Given the description of an element on the screen output the (x, y) to click on. 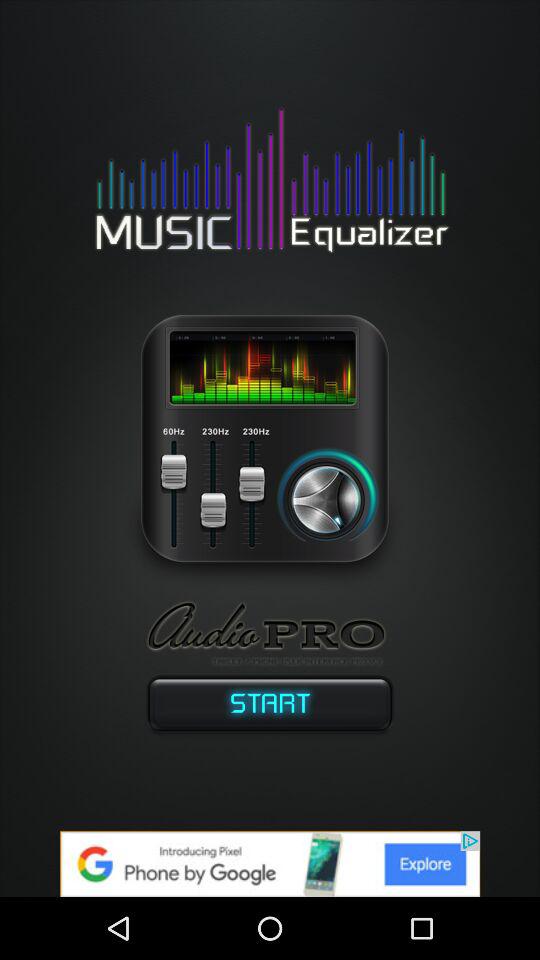
explore advertisement (270, 864)
